Given the description of an element on the screen output the (x, y) to click on. 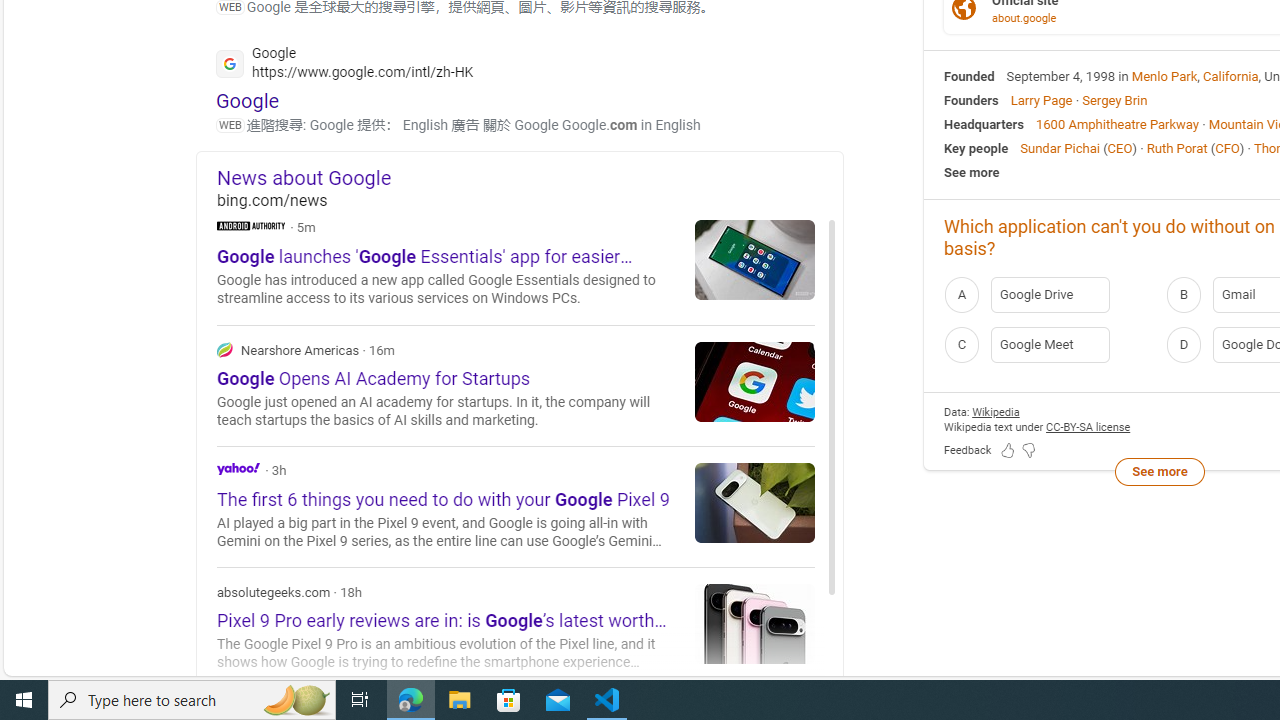
California (1231, 75)
Founded (969, 75)
Founders (971, 100)
Yahoo (238, 468)
Global web icon (229, 63)
The first 6 things you need to do with your Google Pixel 9 (755, 502)
Google (248, 100)
Nearshore Americas (516, 384)
1600 Amphitheatre Parkway (1117, 123)
Larry Page (1040, 100)
Feedback Like (1007, 450)
Headquarters (984, 123)
Menlo Park (1164, 75)
Android Authority (251, 224)
